Given the description of an element on the screen output the (x, y) to click on. 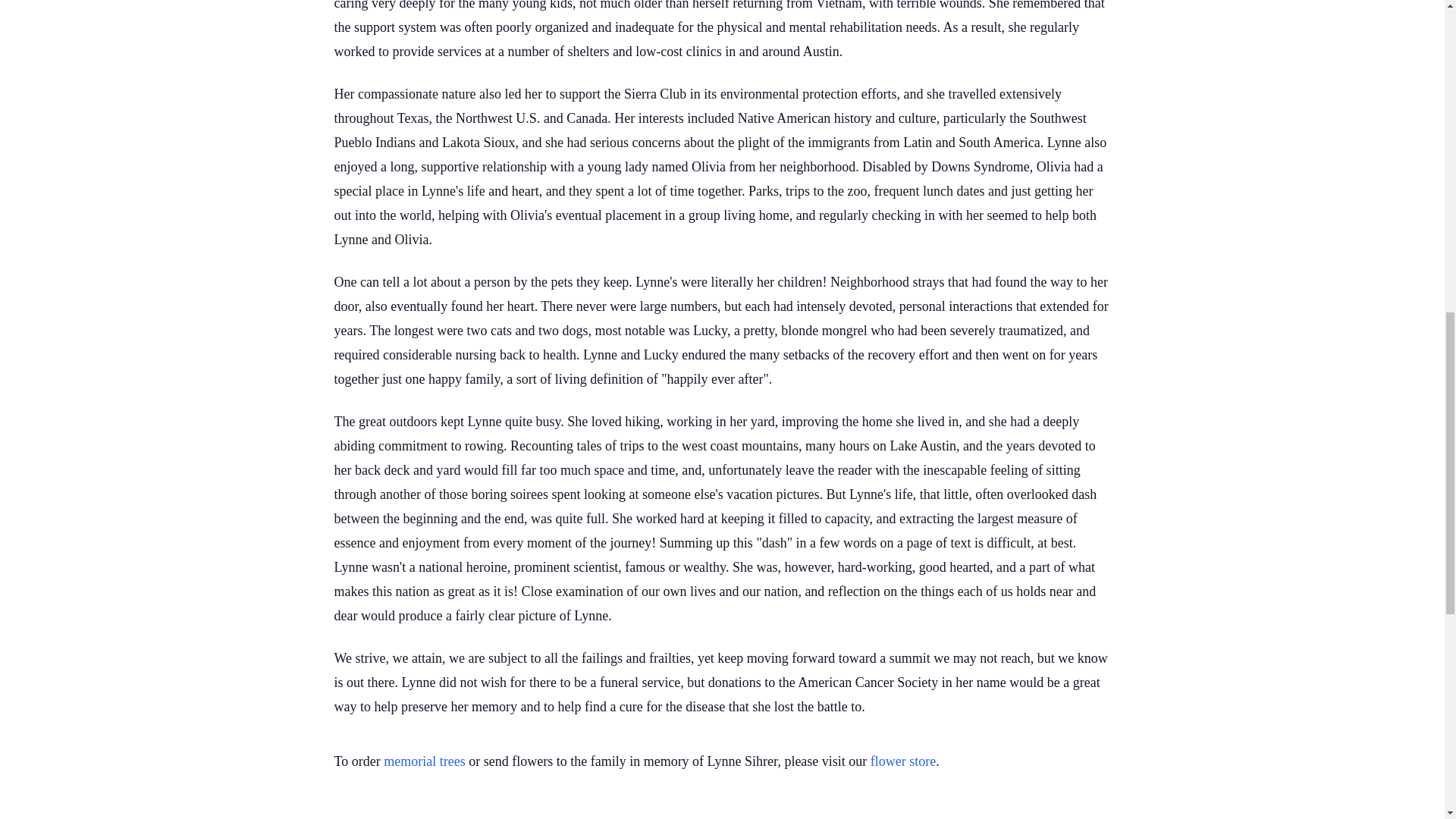
memorial trees (424, 761)
flower store (903, 761)
